Given the description of an element on the screen output the (x, y) to click on. 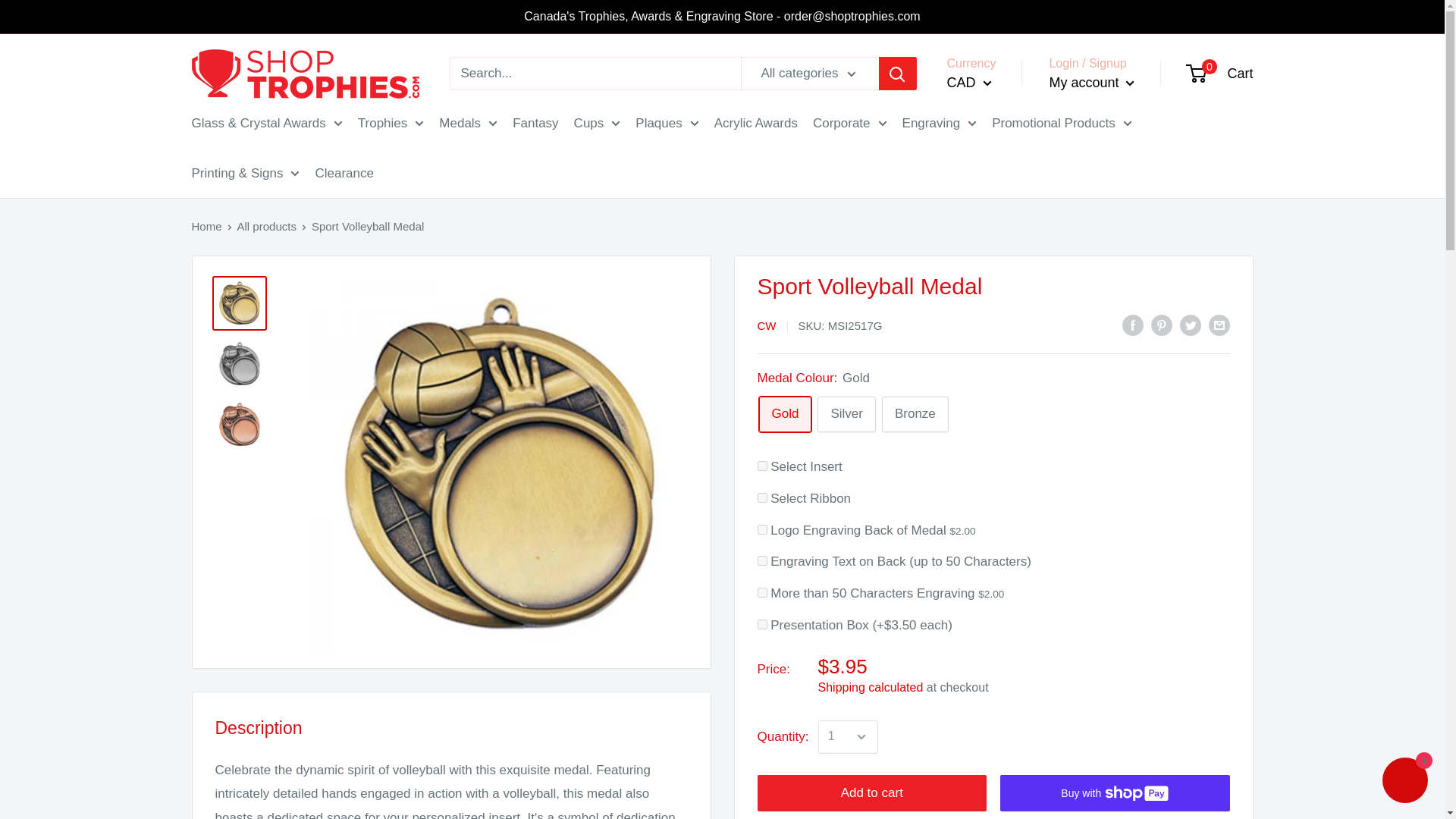
Bronze (915, 414)
Gold (784, 414)
on (762, 592)
Silver (846, 414)
on (762, 560)
on (762, 624)
on (762, 465)
Shopify online store chat (1404, 781)
on (762, 529)
on (762, 497)
